Given the description of an element on the screen output the (x, y) to click on. 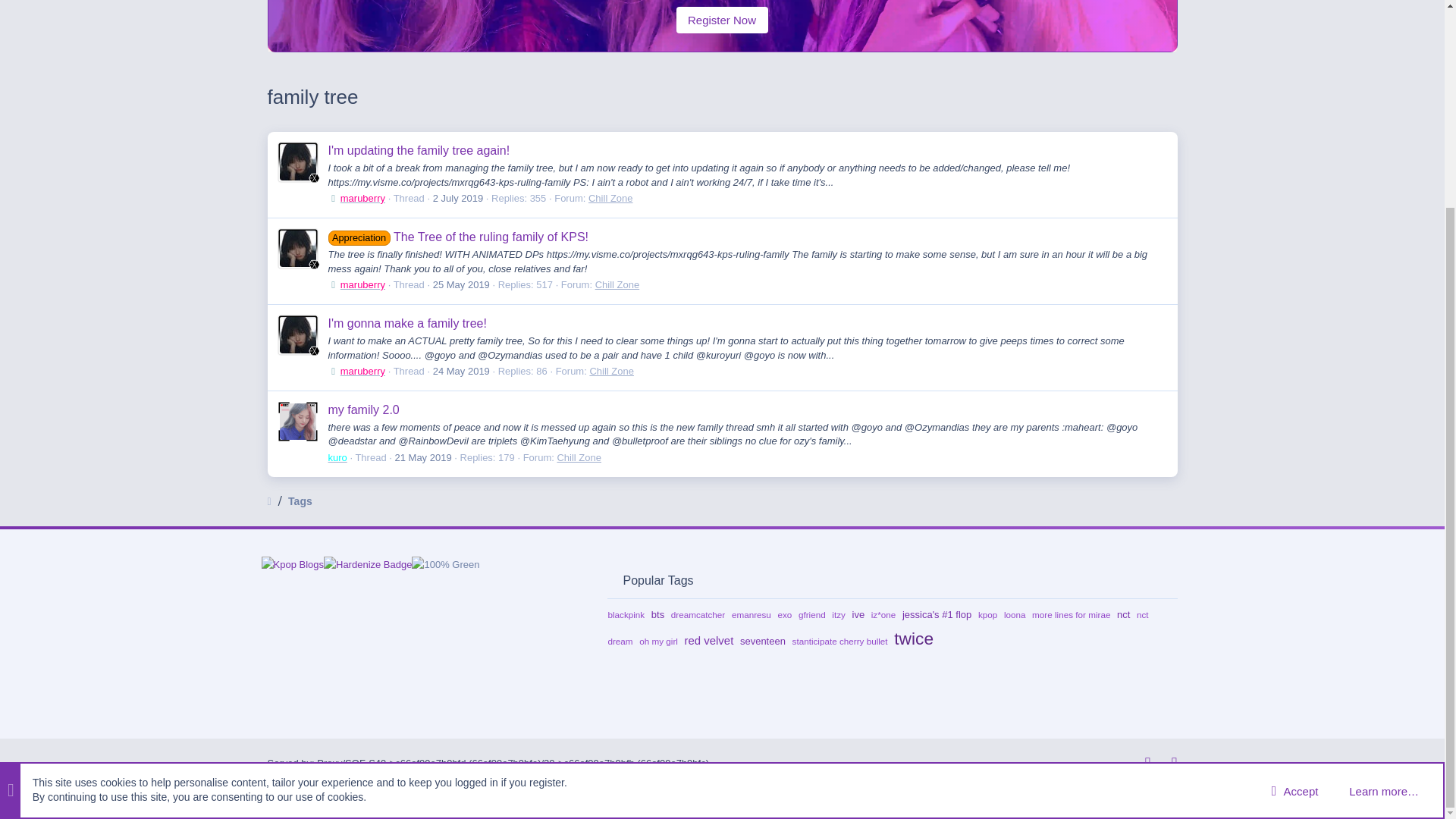
24 May 2019 at 3:02 PM (460, 370)
Register Now (722, 19)
2 July 2019 at 12:52 PM (457, 197)
21 May 2019 at 4:26 PM (422, 457)
Twitter (1167, 763)
25 May 2019 at 11:51 AM (460, 284)
Instagram (1141, 763)
